Given the description of an element on the screen output the (x, y) to click on. 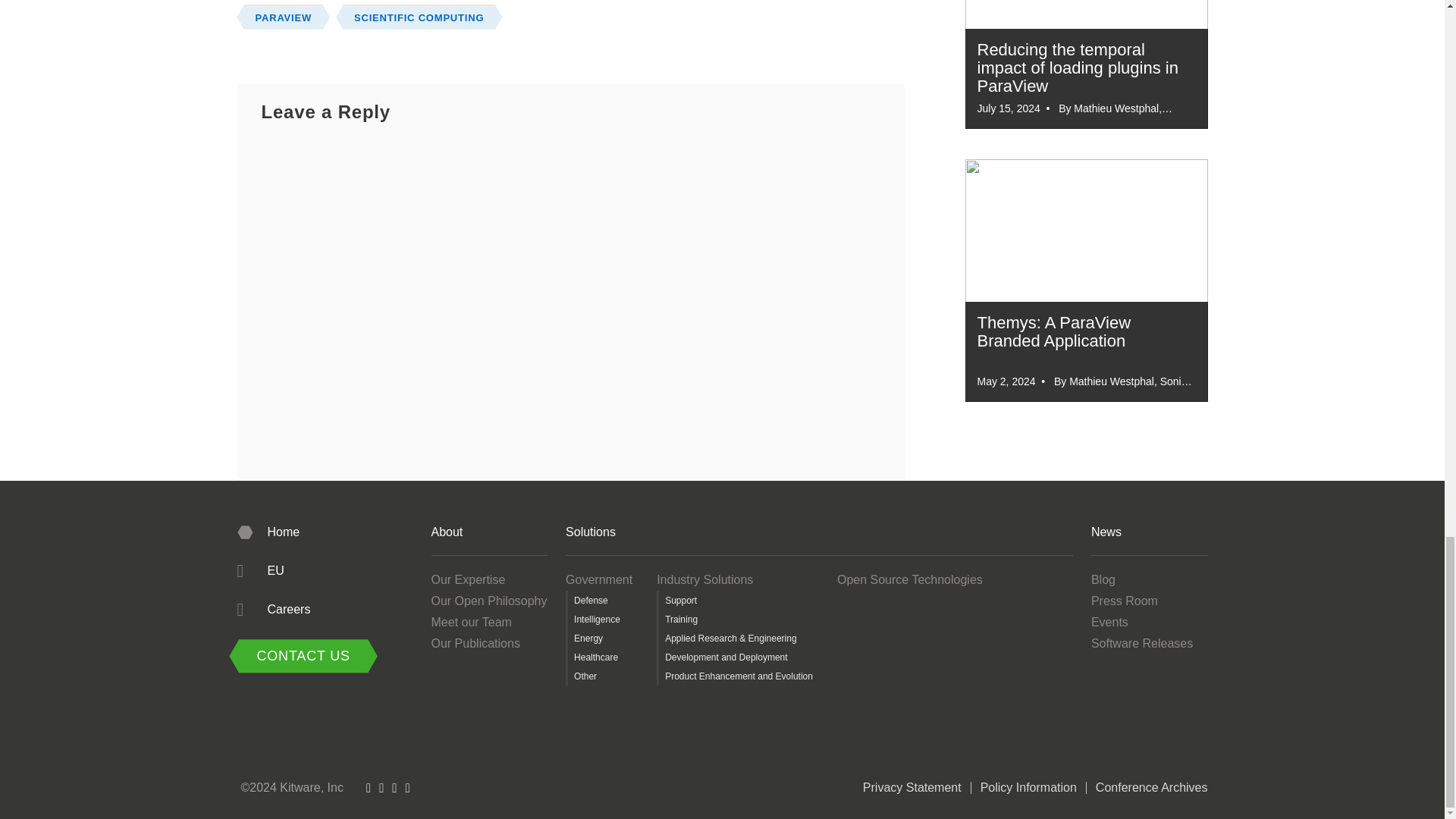
EU (259, 570)
SCIENTIFIC COMPUTING (419, 16)
PARAVIEW (282, 16)
Home (267, 532)
